Given the description of an element on the screen output the (x, y) to click on. 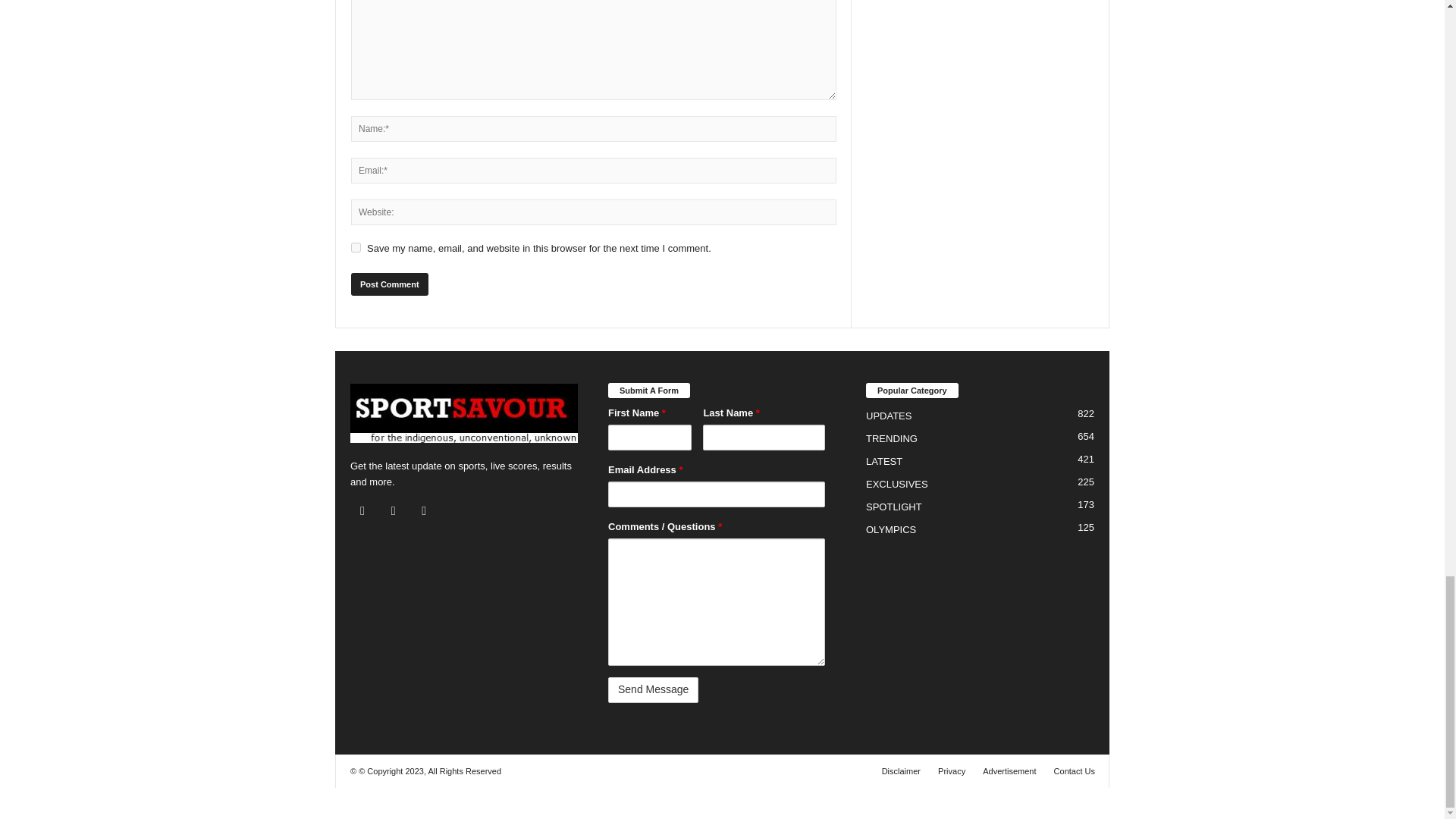
Send Message (653, 689)
Post Comment (389, 283)
yes (355, 247)
